Given the description of an element on the screen output the (x, y) to click on. 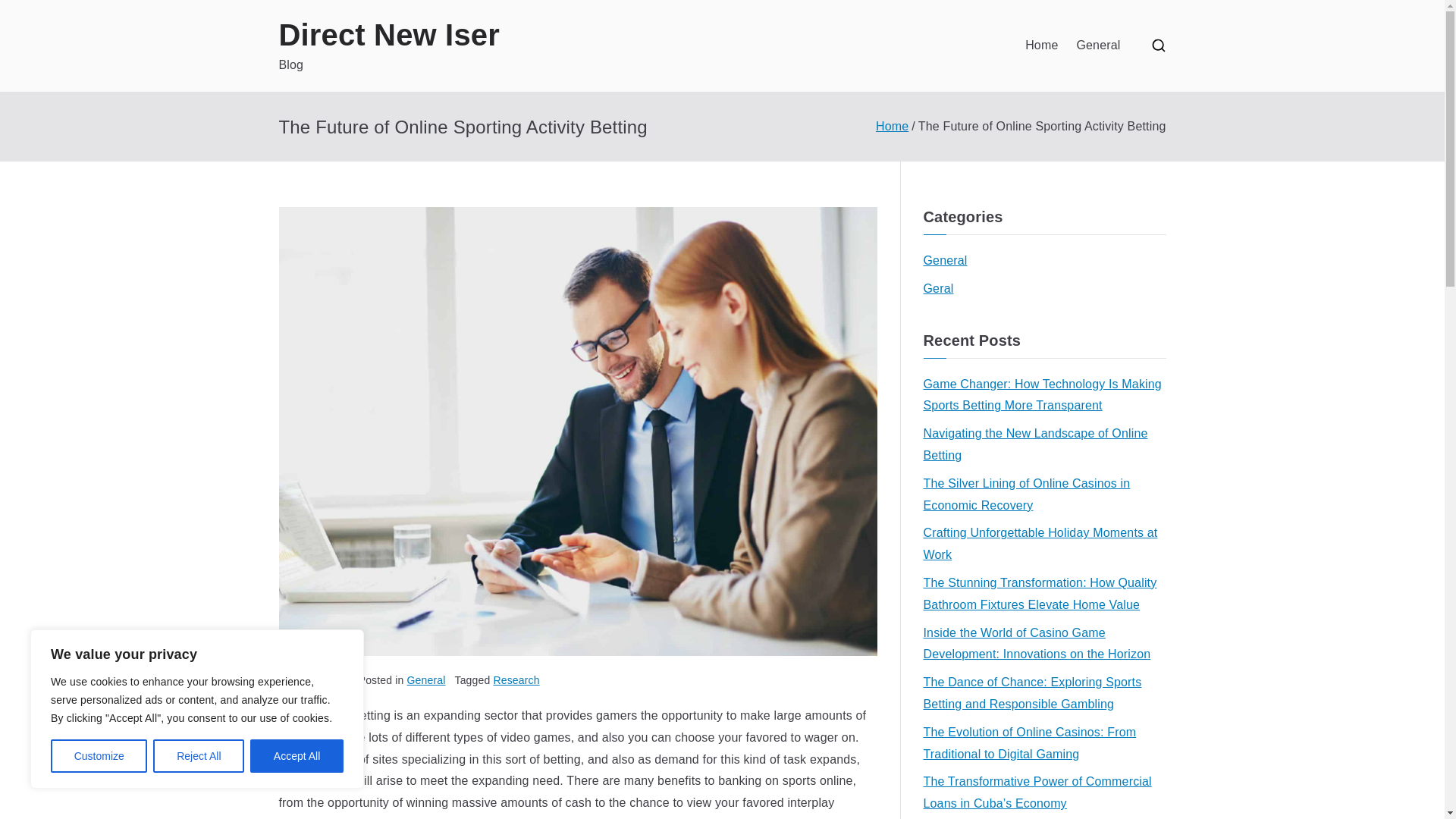
General (1097, 45)
Accept All (296, 756)
General (426, 680)
Home (892, 125)
Reject All (198, 756)
General (945, 260)
Direct New Iser (389, 34)
Customize (98, 756)
